Given the description of an element on the screen output the (x, y) to click on. 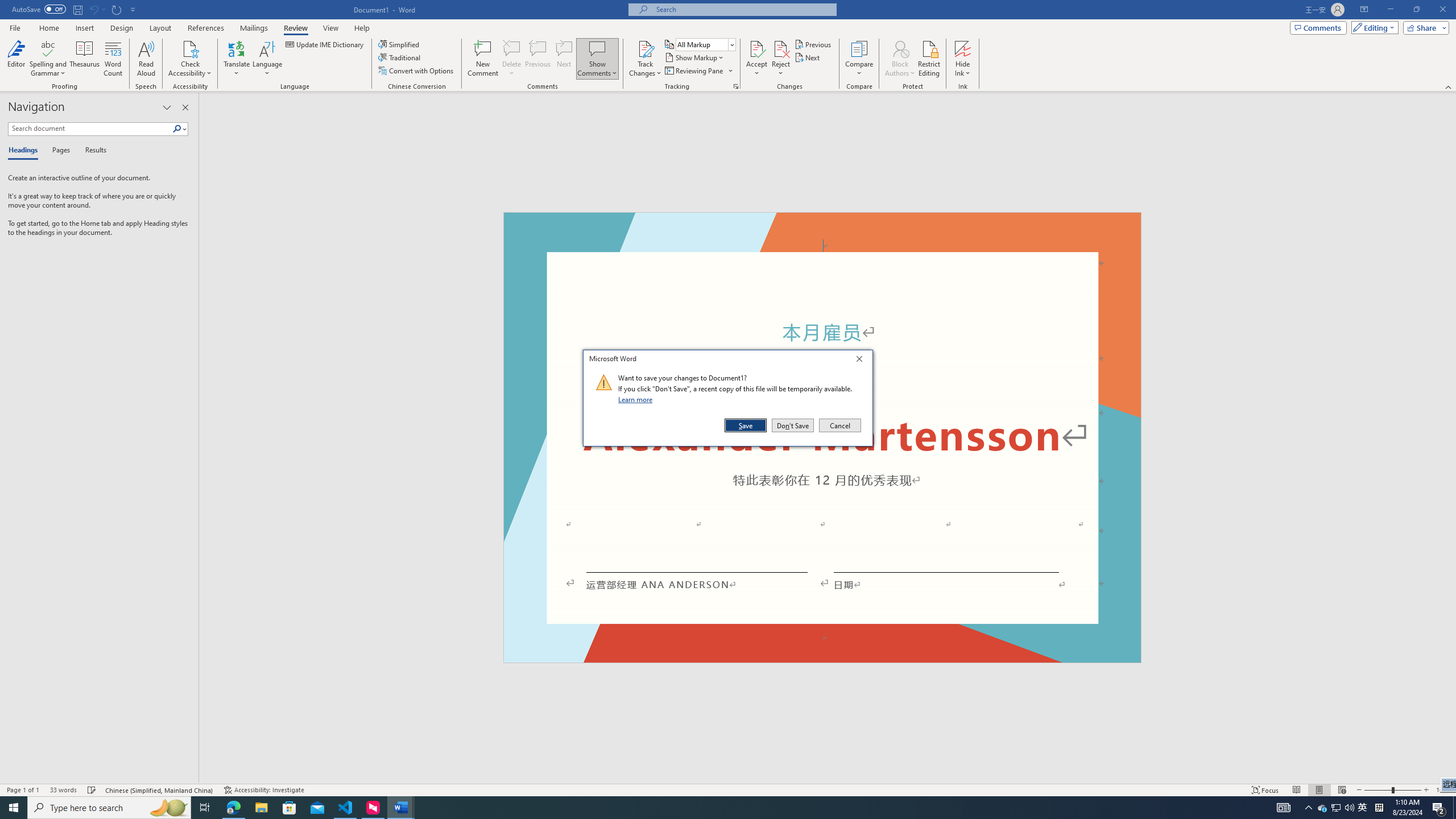
Show Markup (695, 56)
Next (808, 56)
Word Count (113, 58)
Tray Input Indicator - Chinese (Simplified, China) (1378, 807)
